Given the description of an element on the screen output the (x, y) to click on. 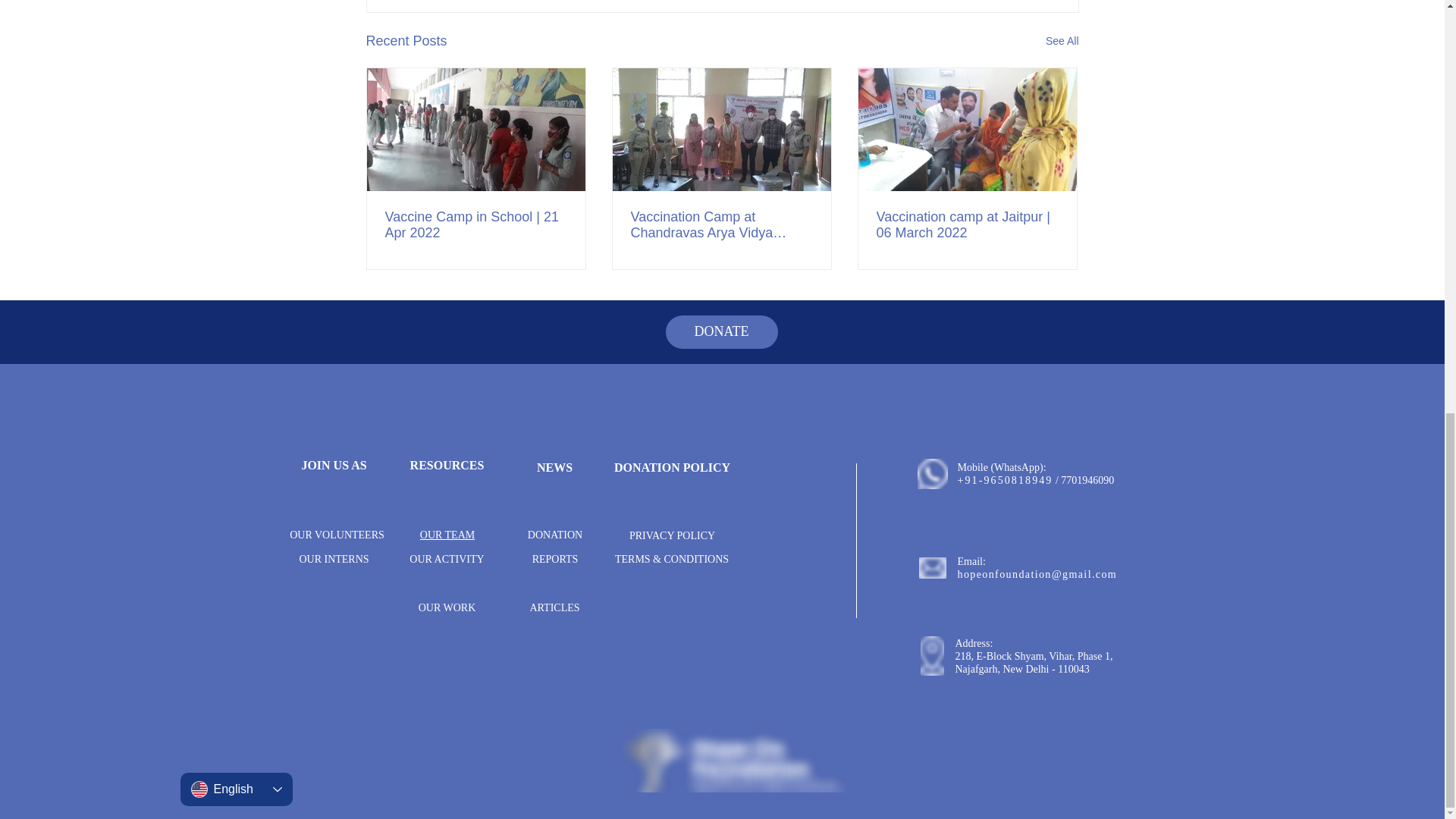
TVB ICONS-05.png (932, 473)
See All (1061, 41)
OUR VOLUNTEERS (336, 534)
DONATE (721, 331)
TVB ICONS-04.png (932, 567)
OUR INTERNS (333, 559)
